Given the description of an element on the screen output the (x, y) to click on. 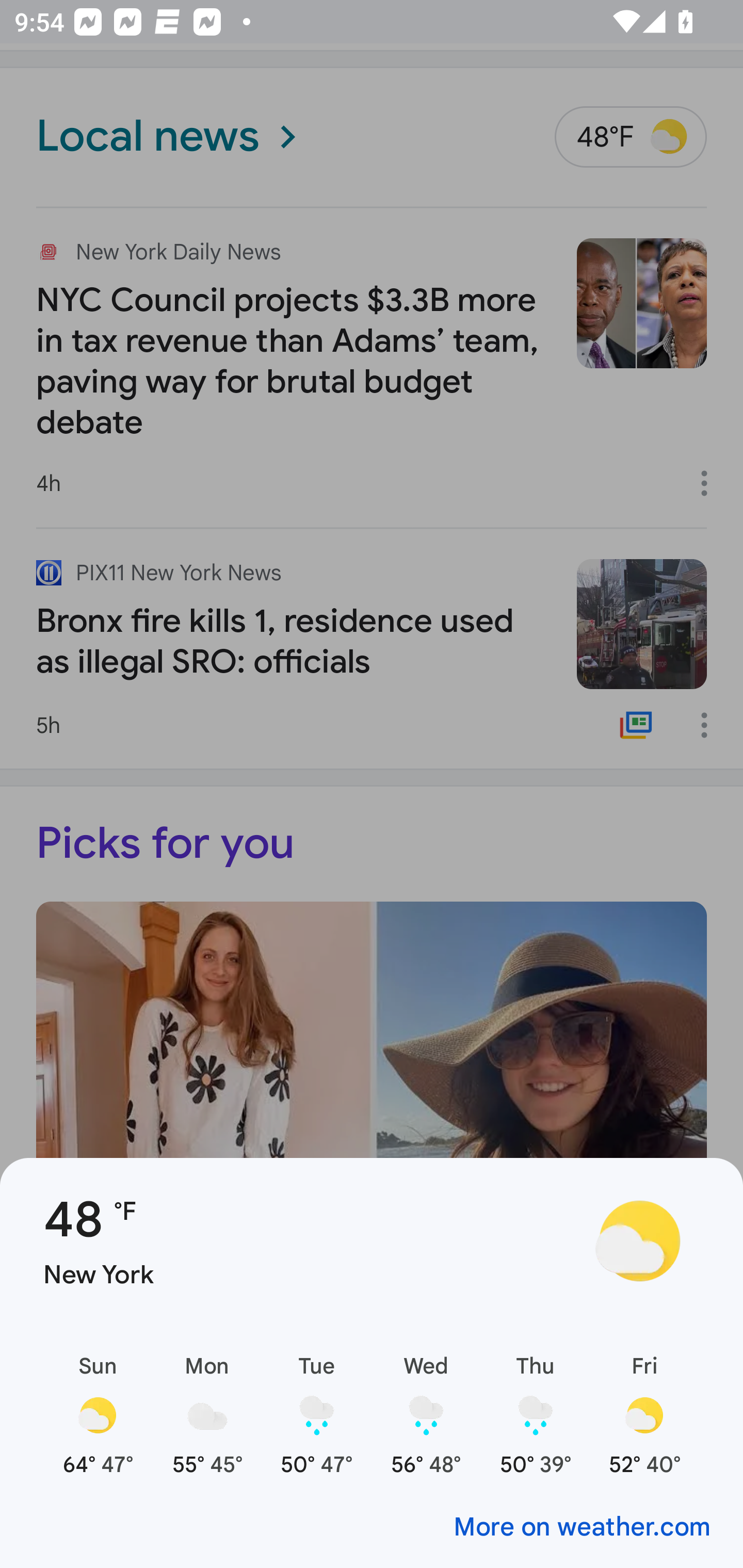
More on weather.com (371, 1524)
